Given the description of an element on the screen output the (x, y) to click on. 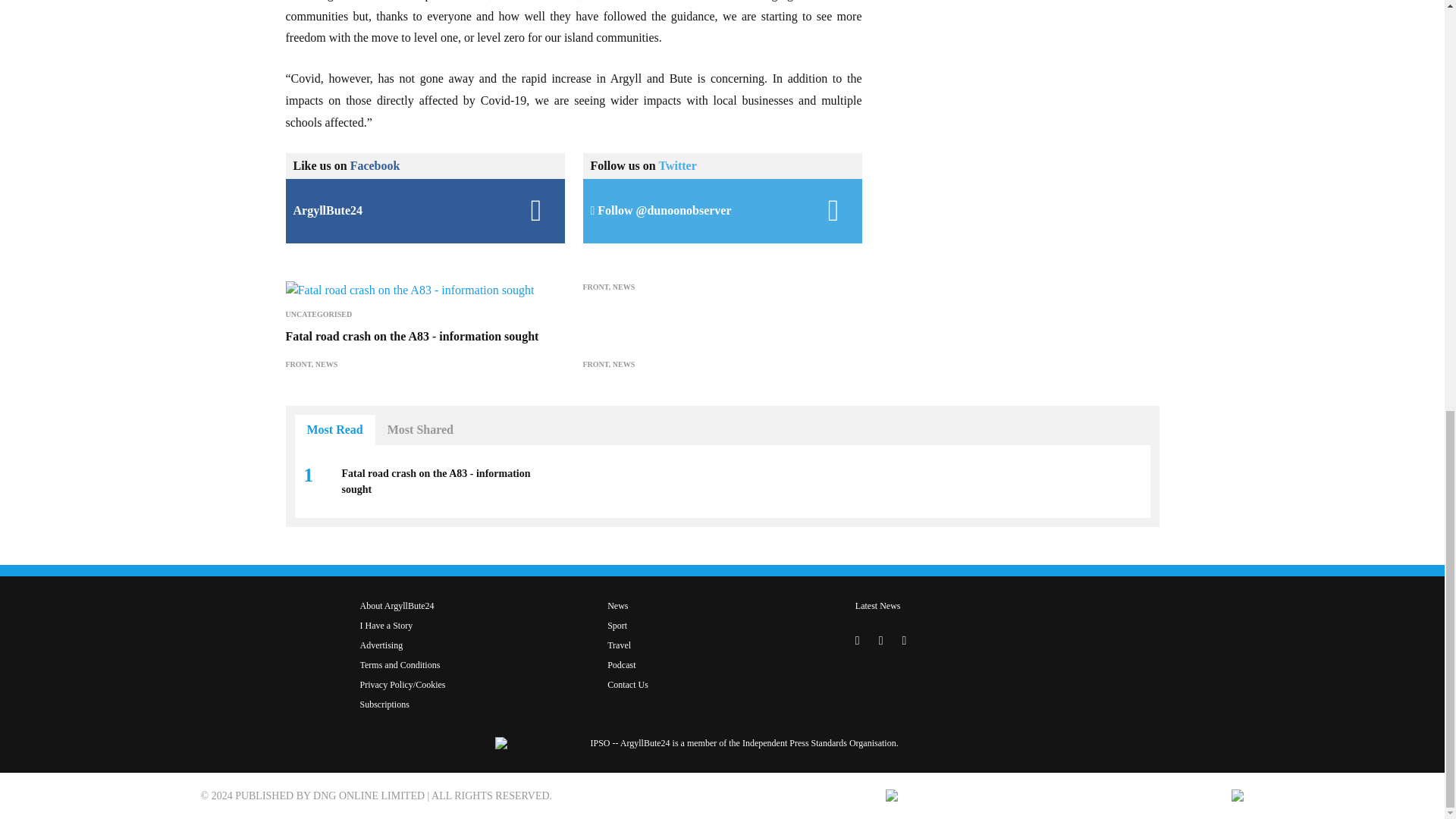
Fatal road crash on the A83 - information sought (411, 336)
UNCATEGORISED (318, 314)
FRONT (595, 286)
FRONT (298, 364)
NEWS (623, 286)
